Given the description of an element on the screen output the (x, y) to click on. 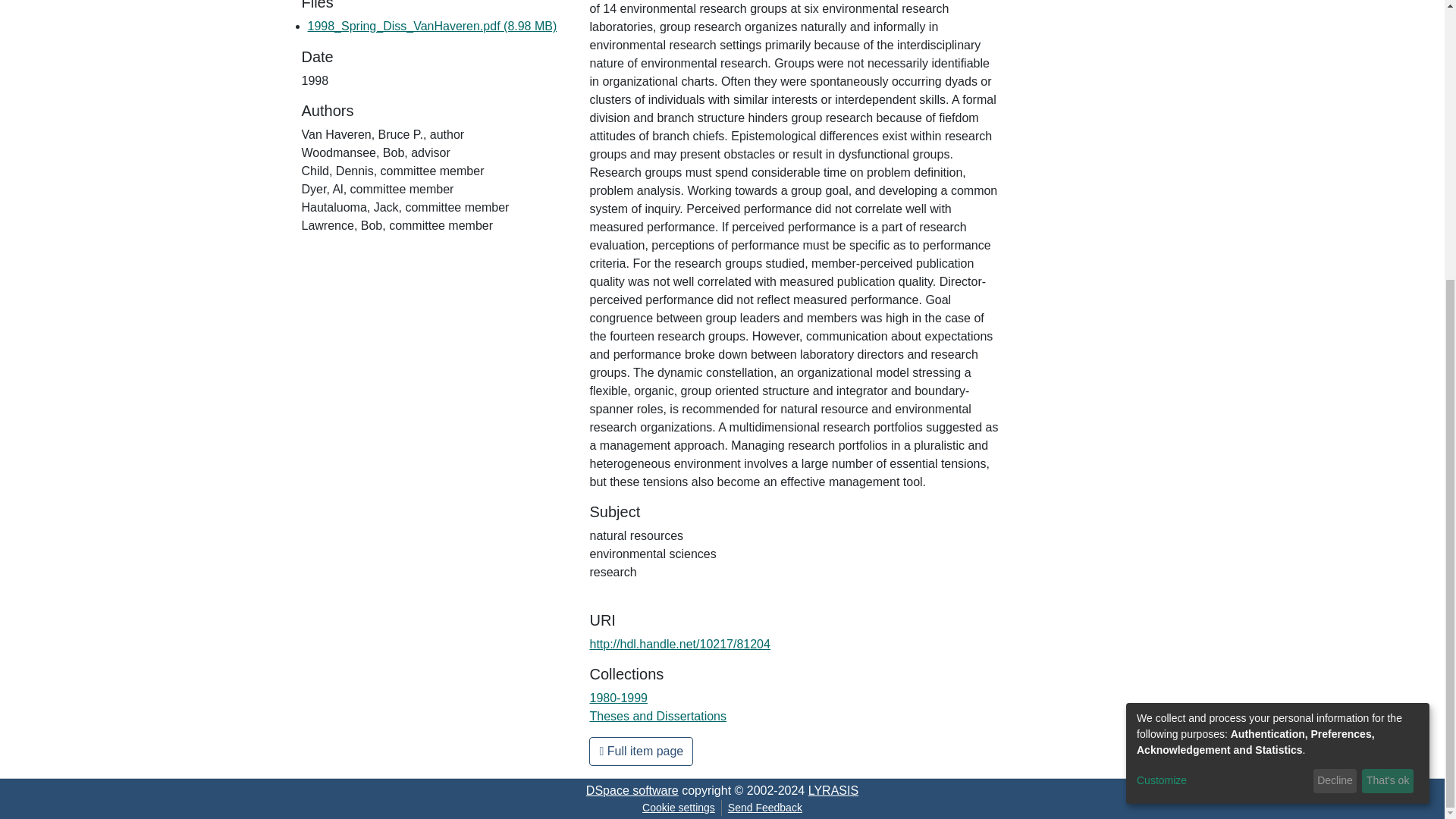
1980-1999 (618, 697)
Decline (1334, 364)
That's ok (1387, 364)
Customize (1222, 364)
Full item page (641, 751)
Send Feedback (765, 807)
Cookie settings (678, 807)
Theses and Dissertations (657, 716)
DSpace software (632, 789)
LYRASIS (833, 789)
